Given the description of an element on the screen output the (x, y) to click on. 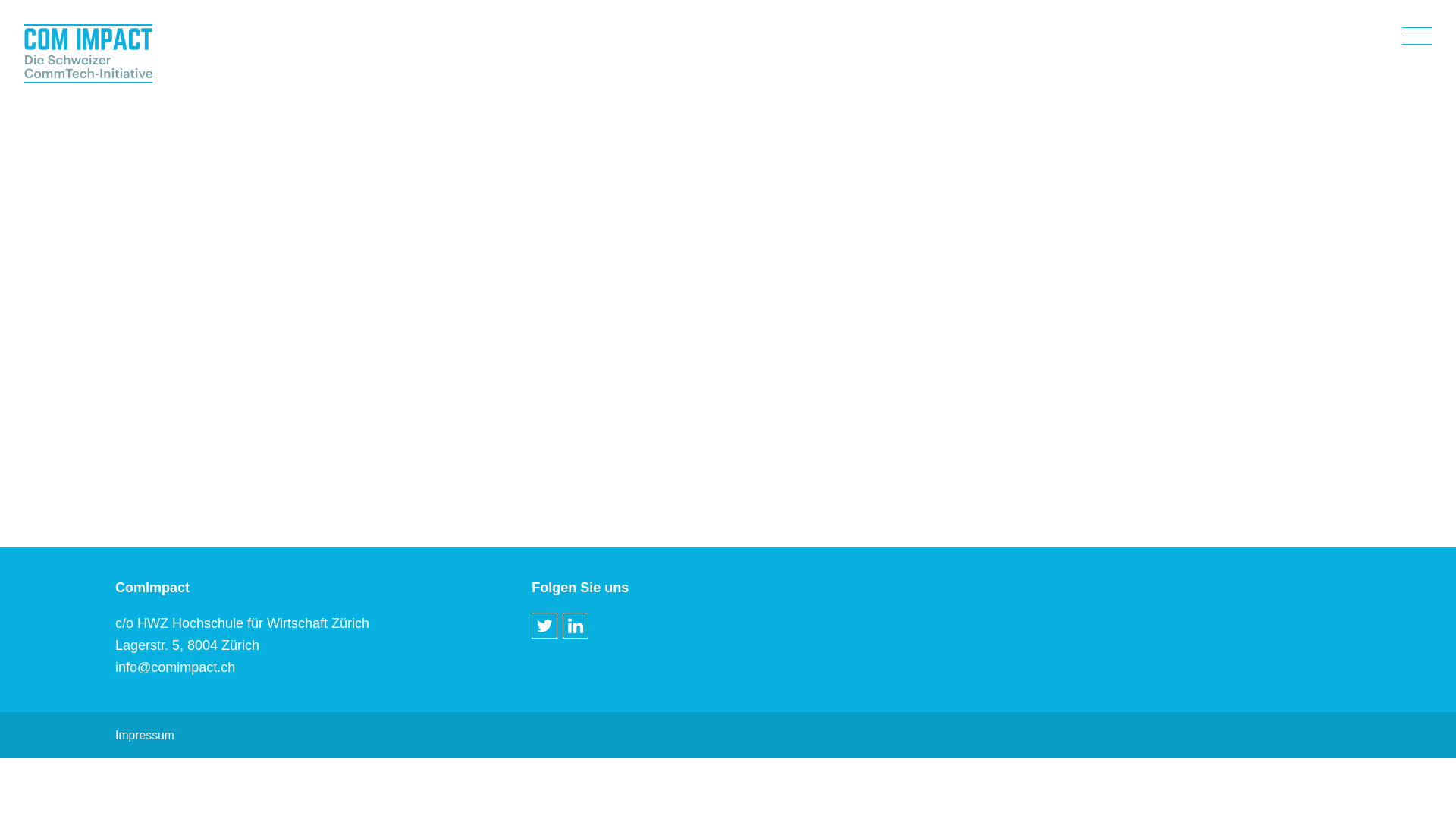
info@comimpact.ch Element type: text (175, 666)
Impressum Element type: text (144, 734)
